Given the description of an element on the screen output the (x, y) to click on. 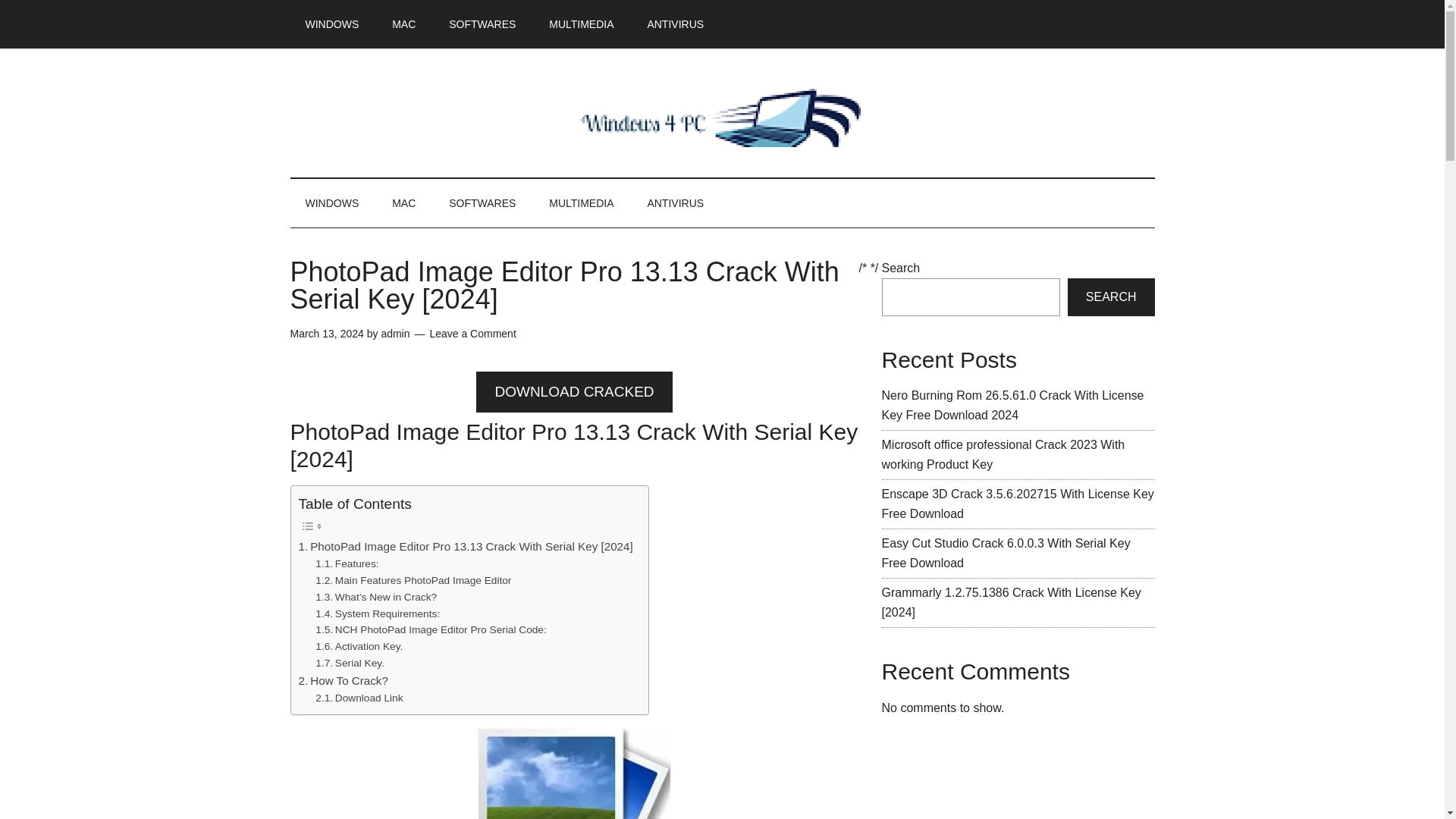
DOWNLOAD CRACKED (573, 391)
SOFTWARES (482, 24)
SOFTWARES (482, 203)
Main Features PhotoPad Image Editor (413, 580)
DOWNLOAD CRACKED (573, 391)
MULTIMEDIA (581, 24)
MAC (403, 203)
ANTIVIRUS (675, 203)
NCH PhotoPad Image Editor Pro Serial Code: (430, 629)
NCH PhotoPad Image Editor Pro Serial Code: (430, 629)
